Given the description of an element on the screen output the (x, y) to click on. 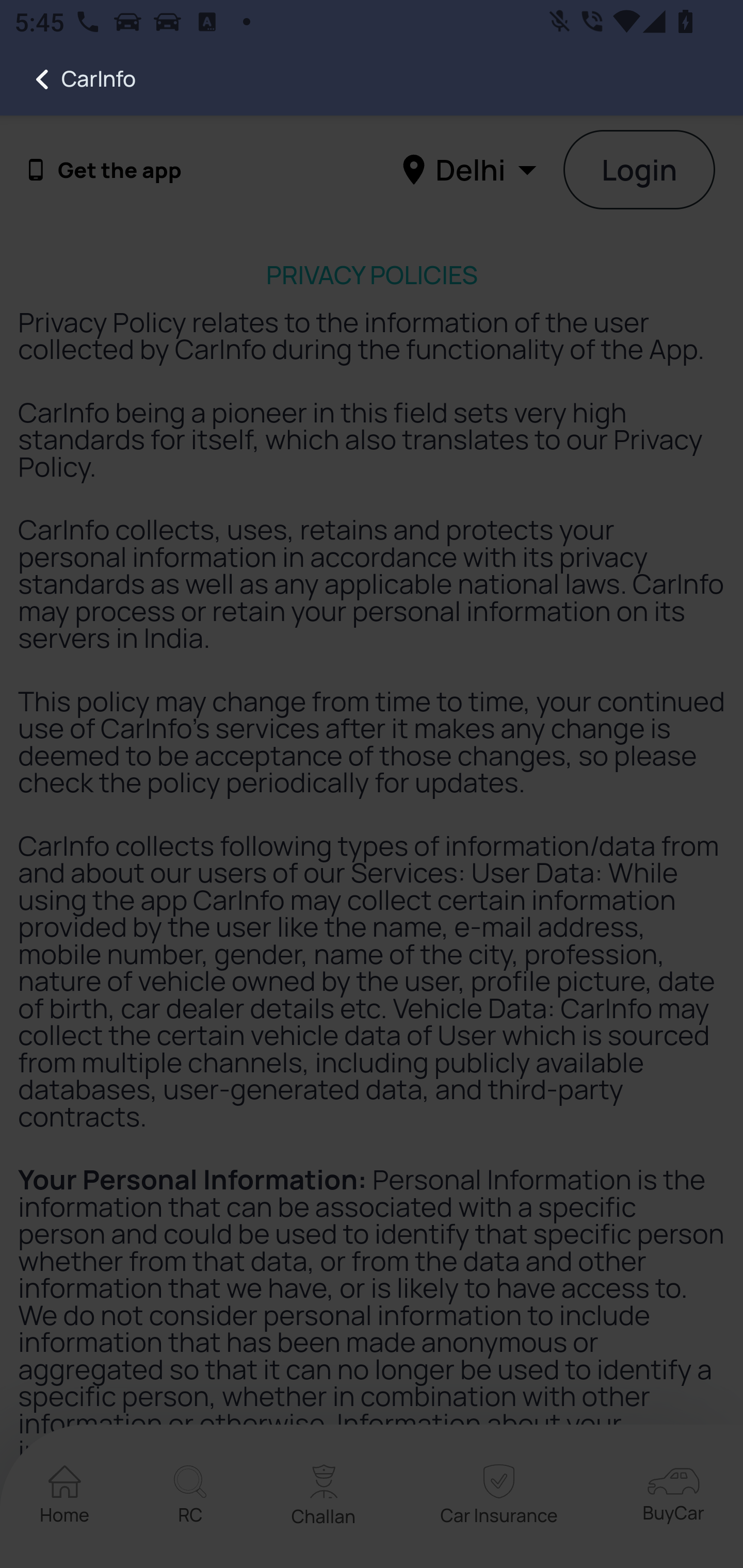
CarInfo (67, 79)
